Given the description of an element on the screen output the (x, y) to click on. 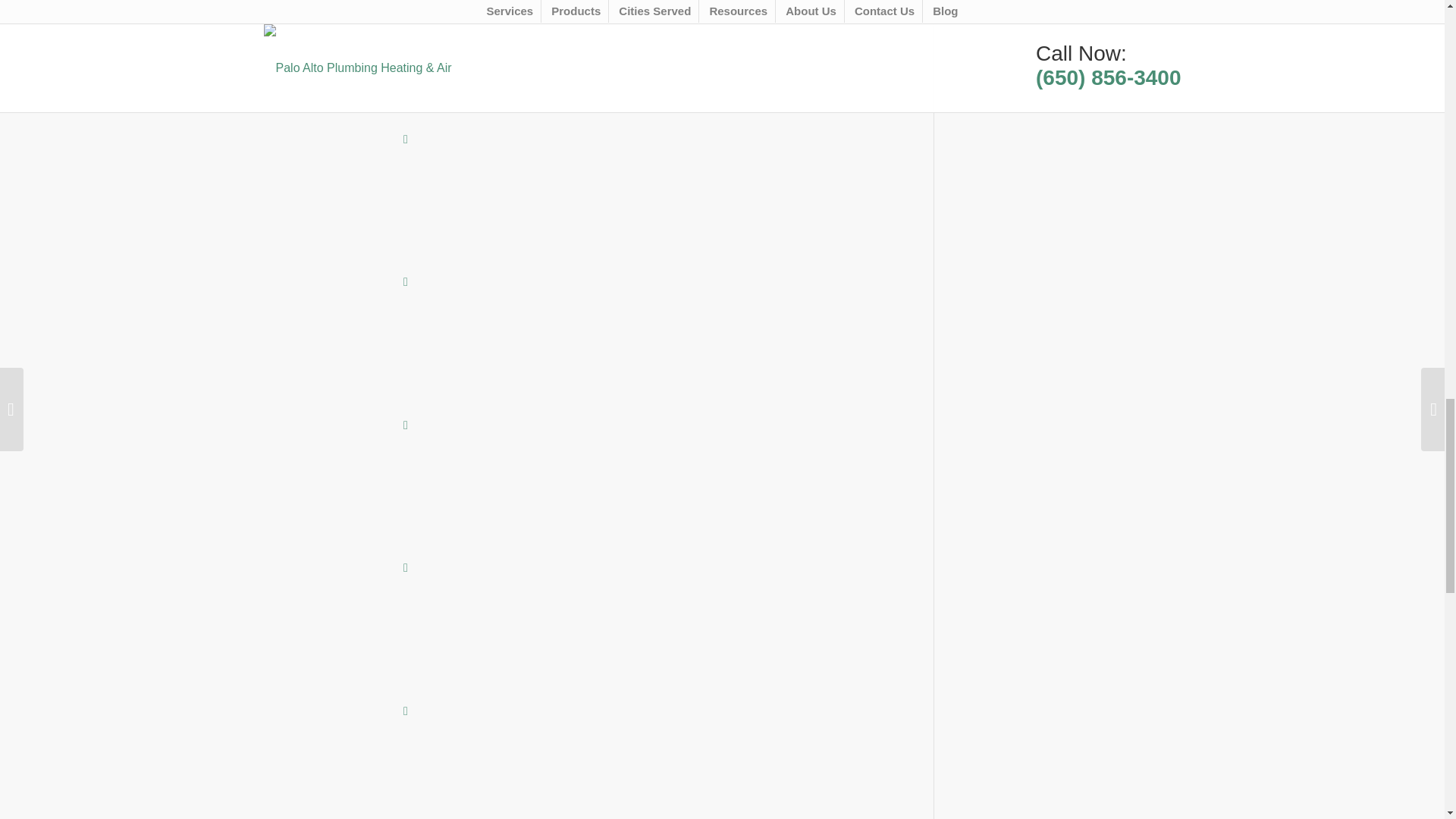
file.jpg (331, 217)
file.jpg (331, 360)
how to clean dishwasher drain (331, 74)
